Given the description of an element on the screen output the (x, y) to click on. 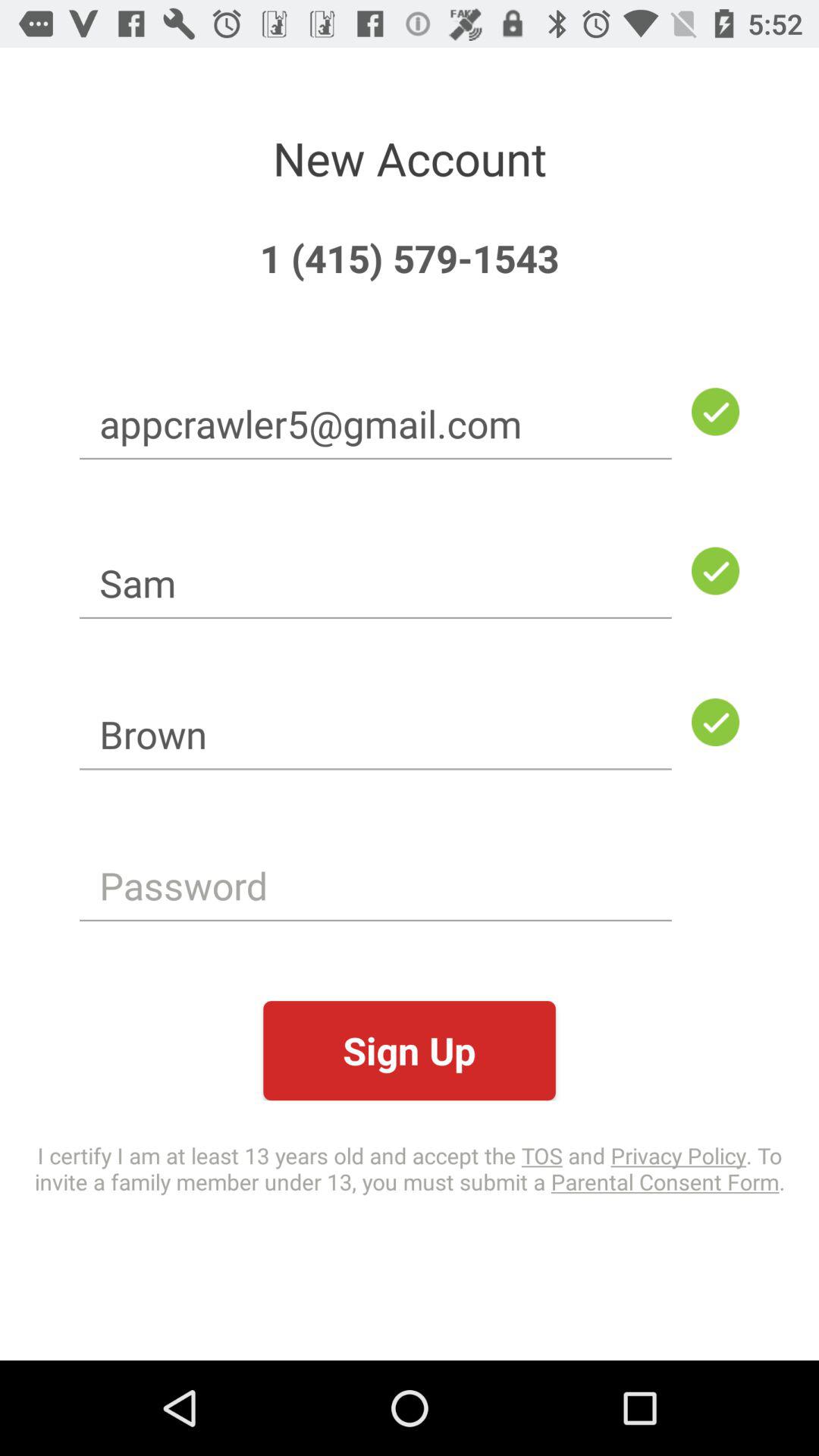
launch sign up icon (409, 1050)
